Given the description of an element on the screen output the (x, y) to click on. 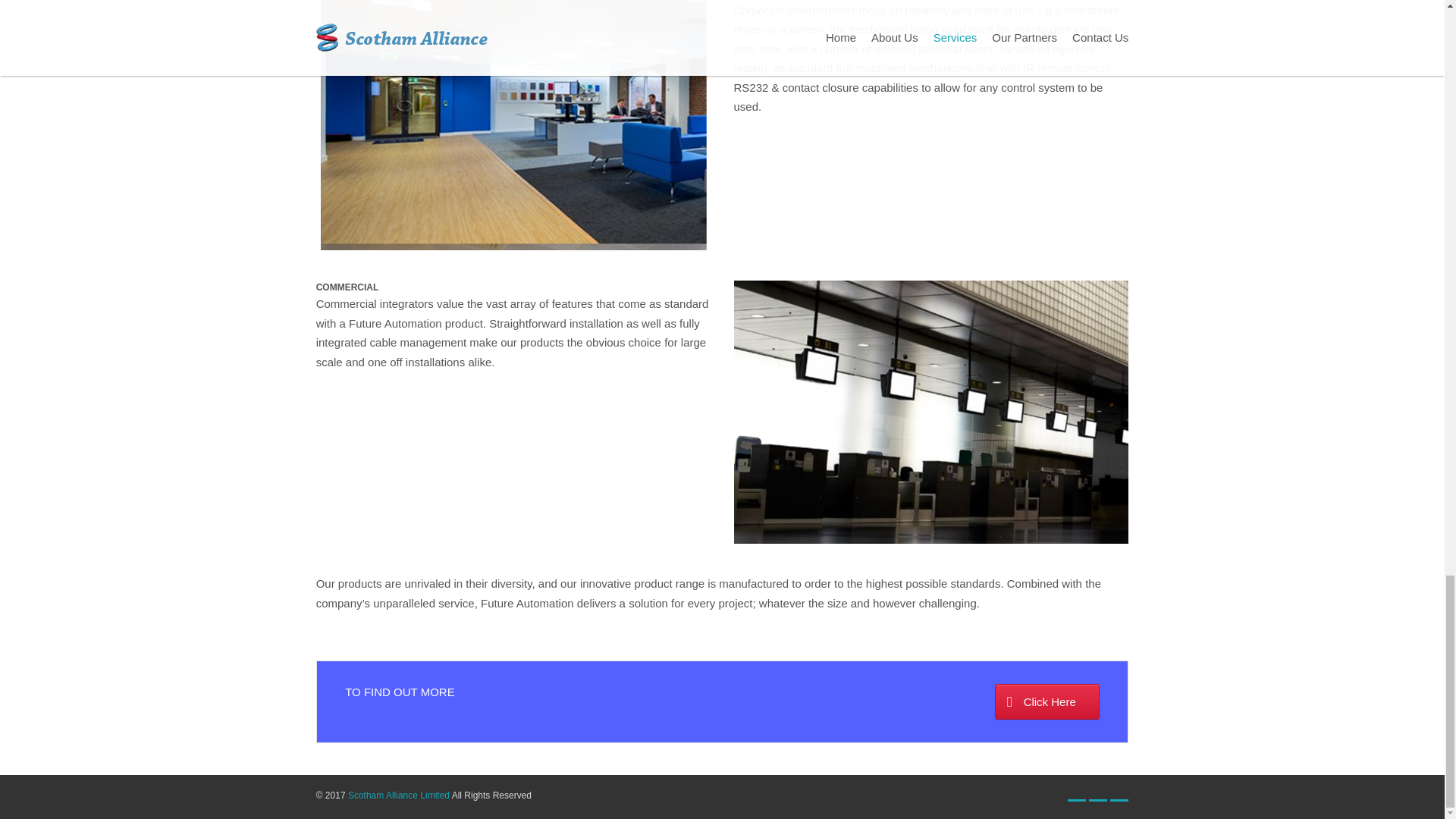
Scotham Alliance Limited (398, 795)
Click Here (1046, 701)
